Given the description of an element on the screen output the (x, y) to click on. 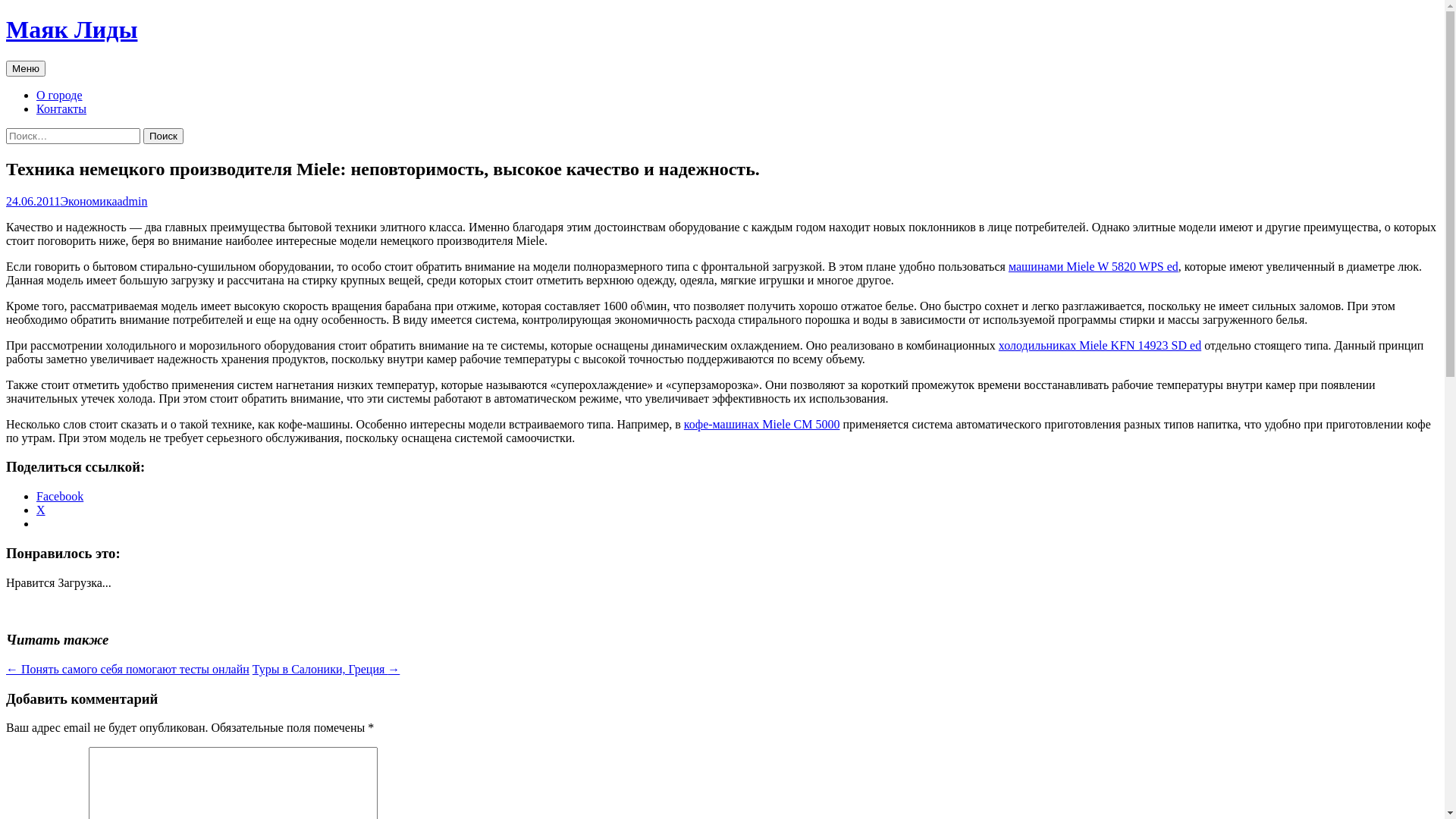
admin Element type: text (132, 200)
X Element type: text (40, 509)
24.06.2011 Element type: text (32, 200)
Facebook Element type: text (59, 495)
